Given the description of an element on the screen output the (x, y) to click on. 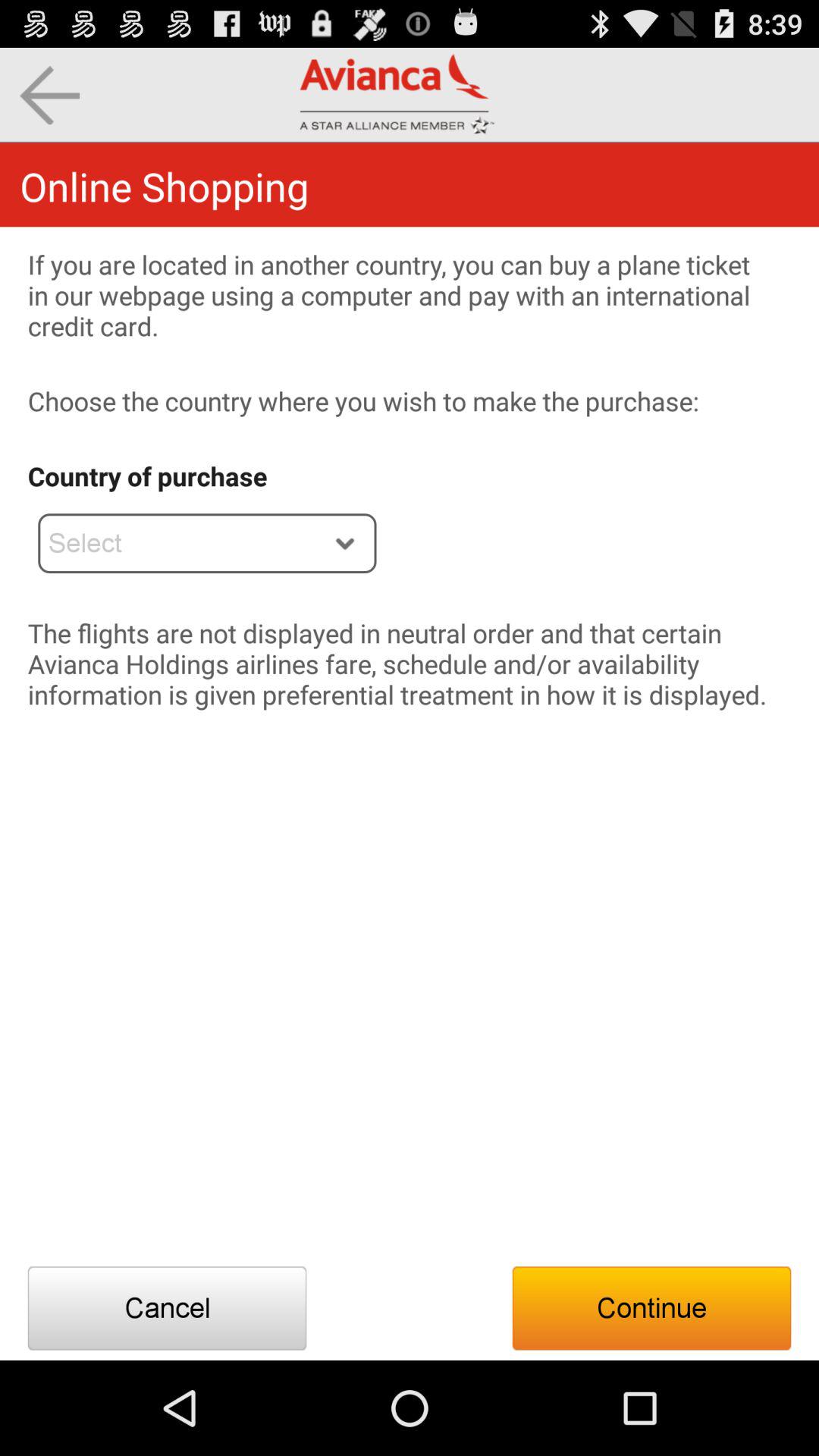
launch the app below the flights are item (166, 1308)
